Given the description of an element on the screen output the (x, y) to click on. 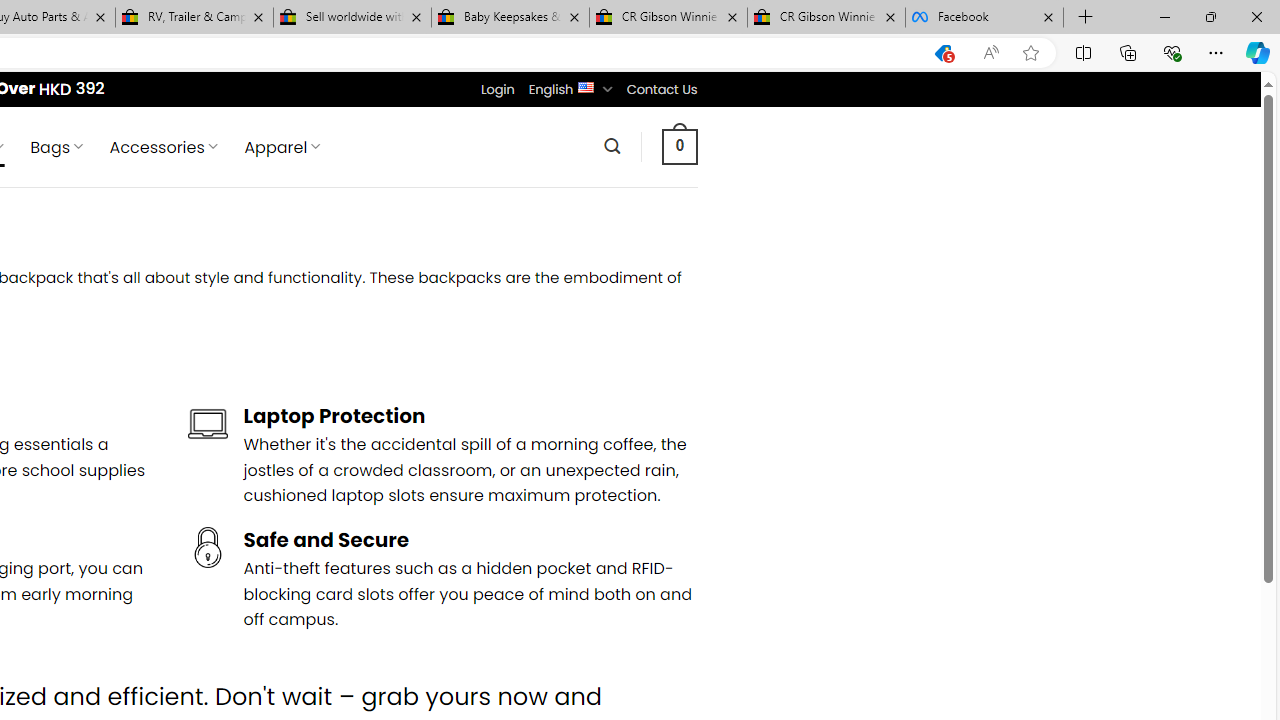
Login (497, 89)
English (586, 86)
